Given the description of an element on the screen output the (x, y) to click on. 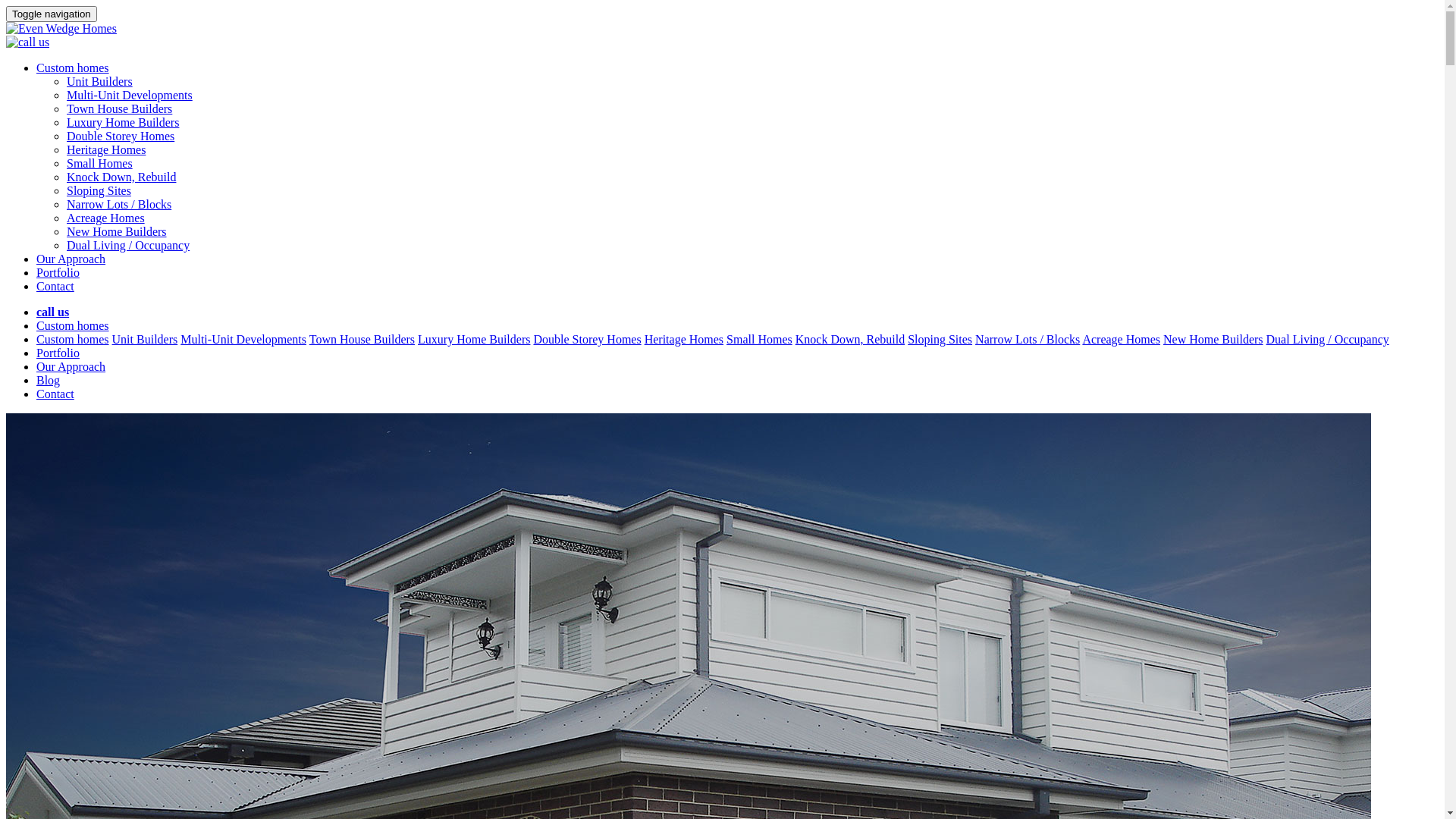
Portfolio Element type: text (57, 352)
New Home Builders Element type: text (116, 231)
Custom homes Element type: text (72, 325)
call us Element type: text (52, 311)
Sloping Sites Element type: text (98, 190)
Acreage Homes Element type: text (1121, 338)
call us Element type: hover (27, 42)
Unit Builders Element type: text (99, 81)
Blog Element type: text (47, 379)
Unit Builders Element type: text (145, 338)
Our Approach Element type: text (70, 366)
Small Homes Element type: text (759, 338)
Luxury Home Builders Element type: text (473, 338)
Heritage Homes Element type: text (105, 149)
Portfolio Element type: text (57, 272)
Town House Builders Element type: text (361, 338)
Custom homes Element type: text (72, 67)
Custom homes Element type: text (72, 338)
Narrow Lots / Blocks Element type: text (1027, 338)
Toggle navigation Element type: text (51, 13)
Multi-Unit Developments Element type: text (243, 338)
Heritage Homes Element type: text (683, 338)
Town House Builders Element type: text (119, 108)
Multi-Unit Developments Element type: text (129, 94)
Dual Living / Occupancy Element type: text (127, 244)
Knock Down, Rebuild Element type: text (120, 176)
Even Wedge Homes Element type: hover (61, 28)
Double Storey Homes Element type: text (586, 338)
Luxury Home Builders Element type: text (122, 122)
Small Homes Element type: text (99, 162)
Sloping Sites Element type: text (939, 338)
Contact Element type: text (55, 393)
Double Storey Homes Element type: text (120, 135)
Knock Down, Rebuild Element type: text (849, 338)
Dual Living / Occupancy Element type: text (1327, 338)
Contact Element type: text (55, 285)
New Home Builders Element type: text (1213, 338)
Our Approach Element type: text (70, 258)
Acreage Homes Element type: text (105, 217)
Narrow Lots / Blocks Element type: text (118, 203)
